Given the description of an element on the screen output the (x, y) to click on. 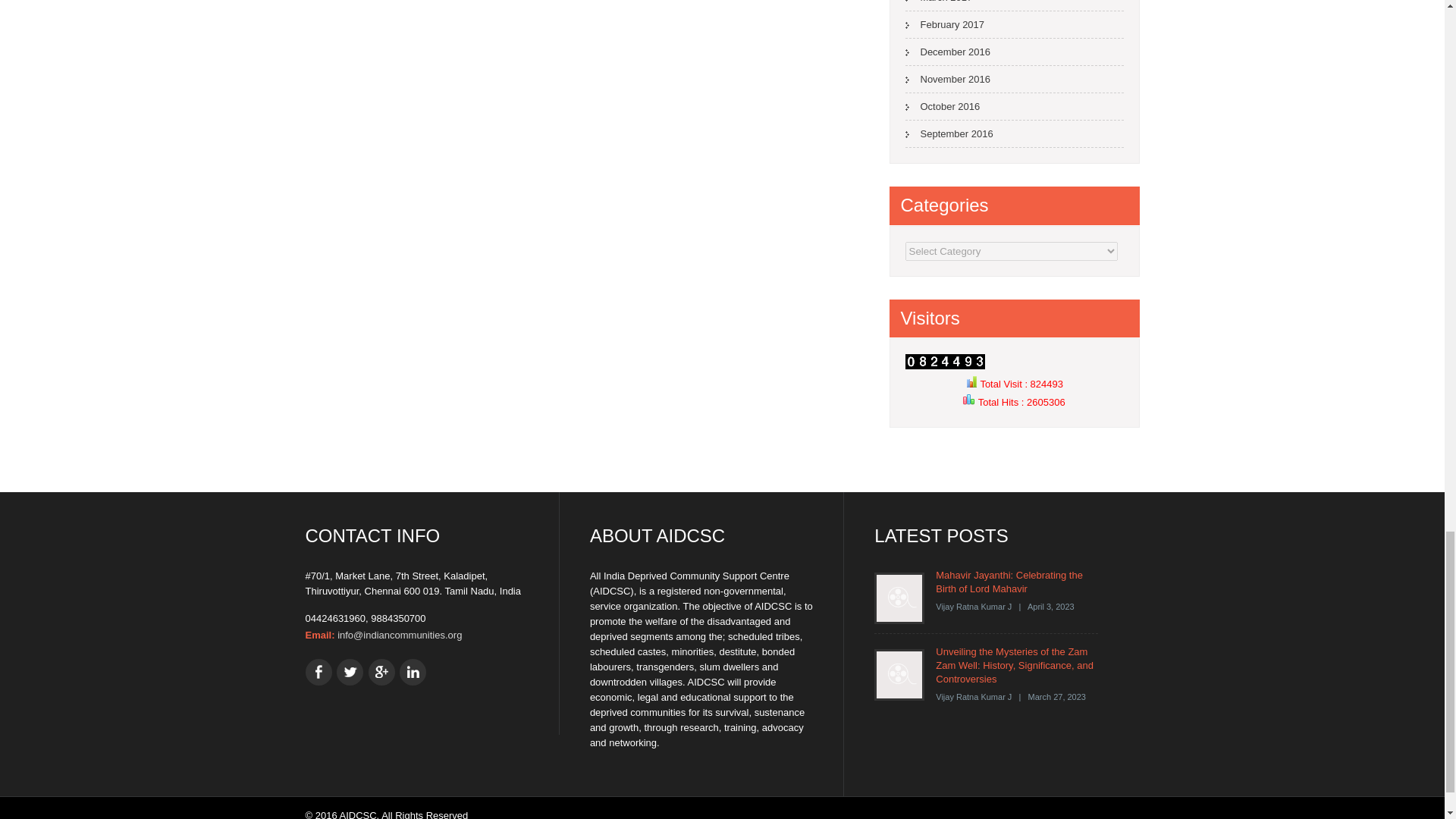
google-plus (381, 672)
twitter (349, 672)
linkedin (412, 672)
facebook (317, 672)
